Given the description of an element on the screen output the (x, y) to click on. 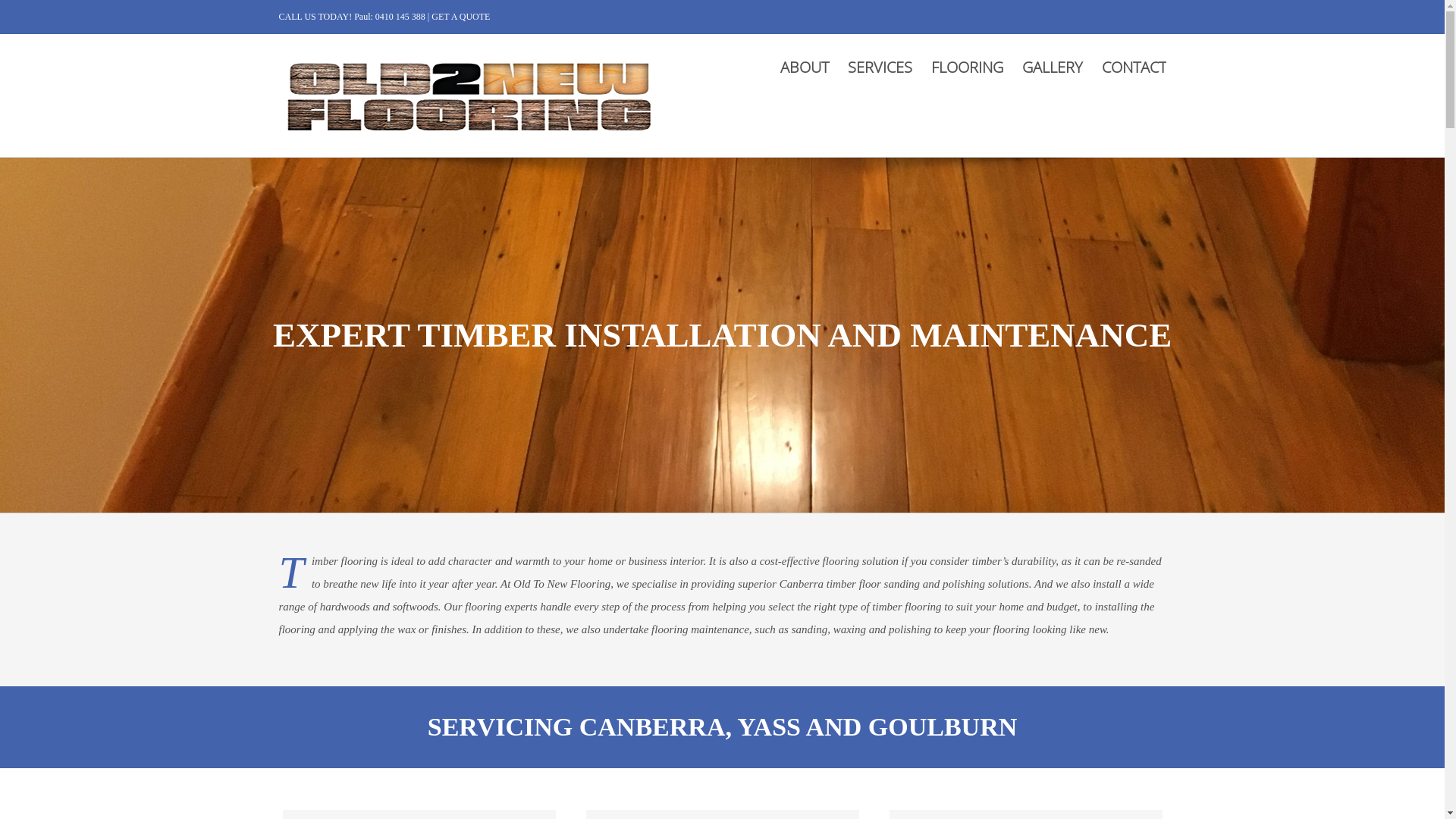
CALL US TODAY! Paul: 0410 145 388 Element type: text (353, 16)
CONTACT Element type: text (1133, 66)
| GET A QUOTE Element type: text (458, 16)
ABOUT Element type: text (803, 66)
FLOORING Element type: text (967, 66)
GALLERY Element type: text (1052, 66)
SERVICES Element type: text (879, 66)
